Given the description of an element on the screen output the (x, y) to click on. 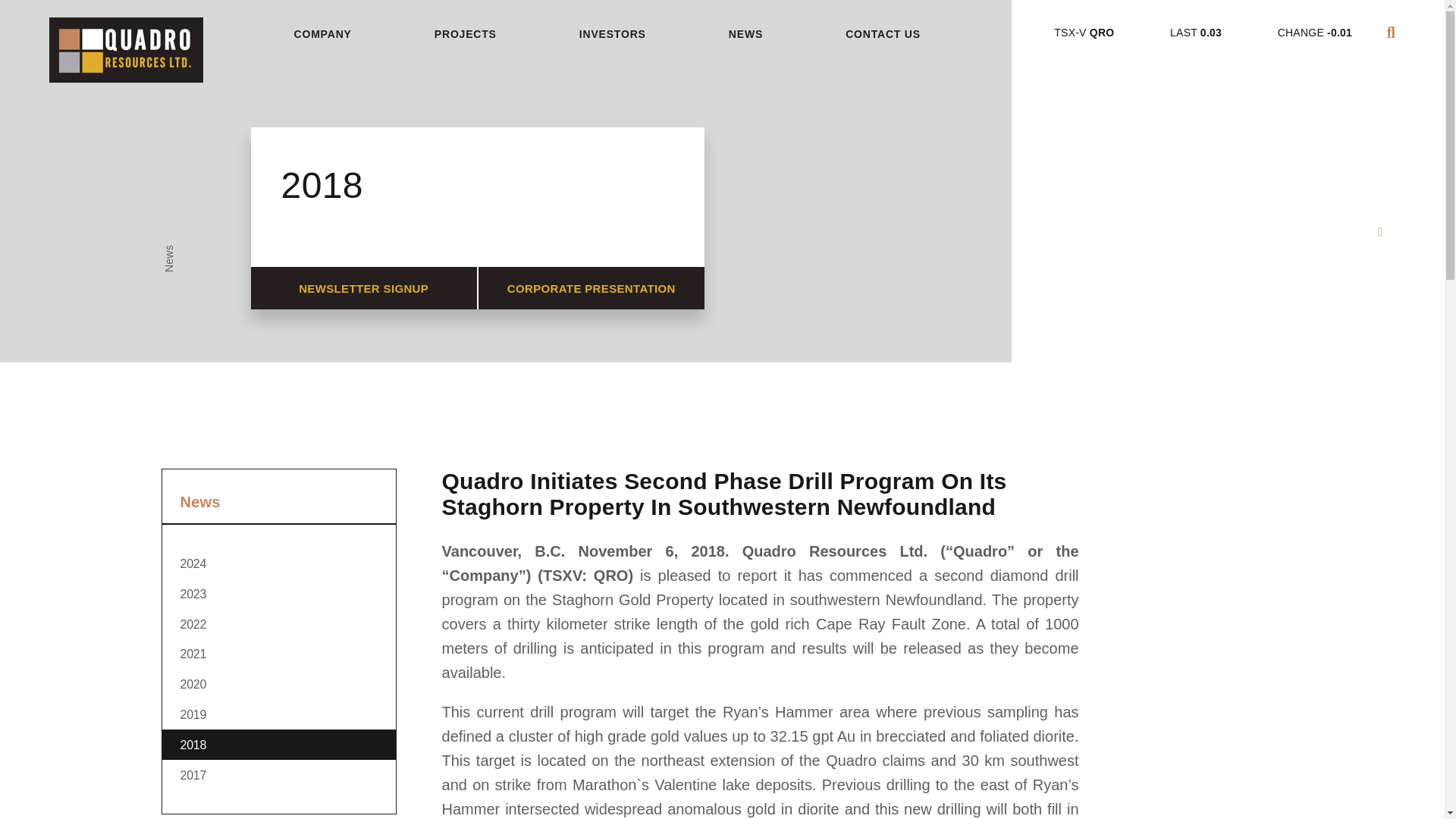
View home page (126, 59)
CONTACT US (873, 34)
NEWSLETTER SIGNUP (333, 287)
INVESTORS (130, 34)
